Given the description of an element on the screen output the (x, y) to click on. 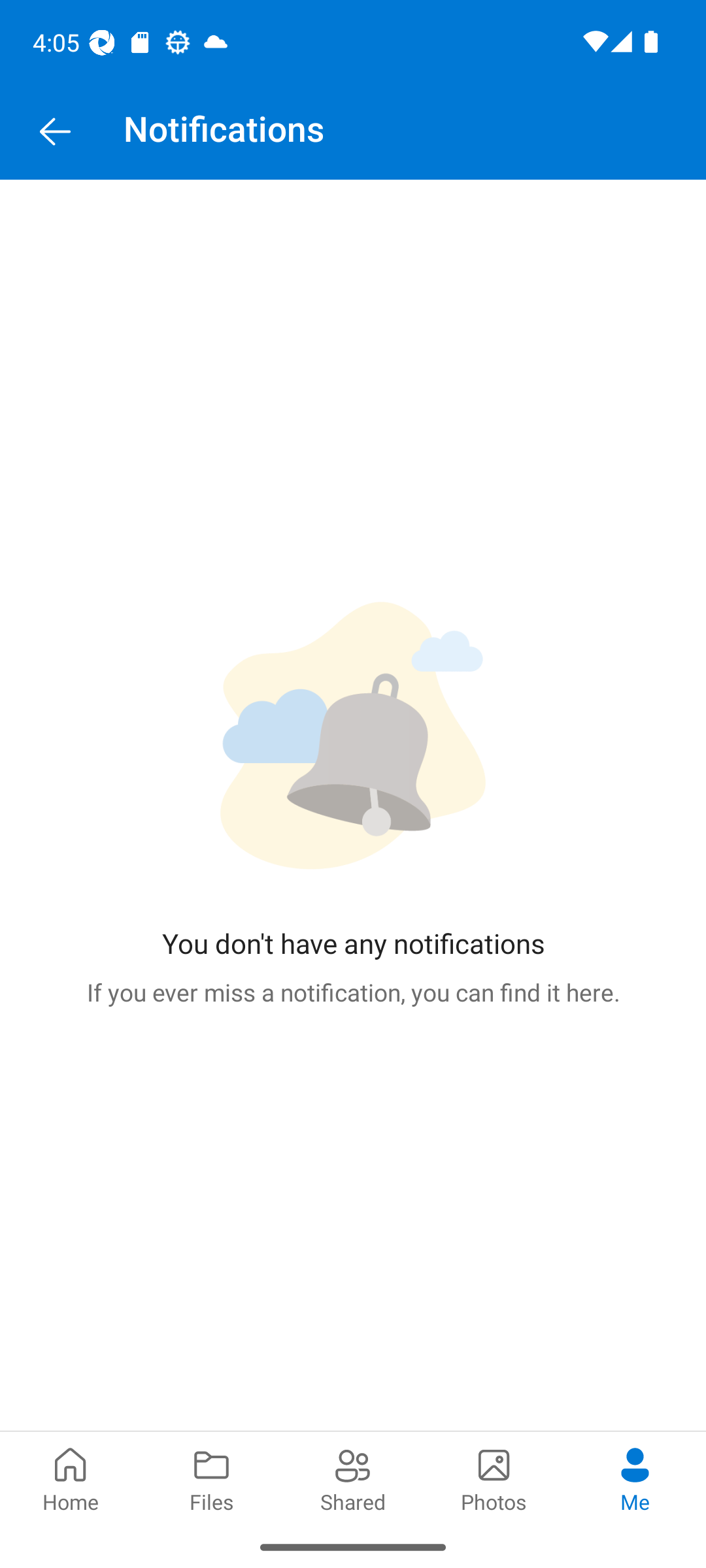
Navigate Up (55, 131)
Home pivot Home (70, 1478)
Files pivot Files (211, 1478)
Shared pivot Shared (352, 1478)
Photos pivot Photos (493, 1478)
